Given the description of an element on the screen output the (x, y) to click on. 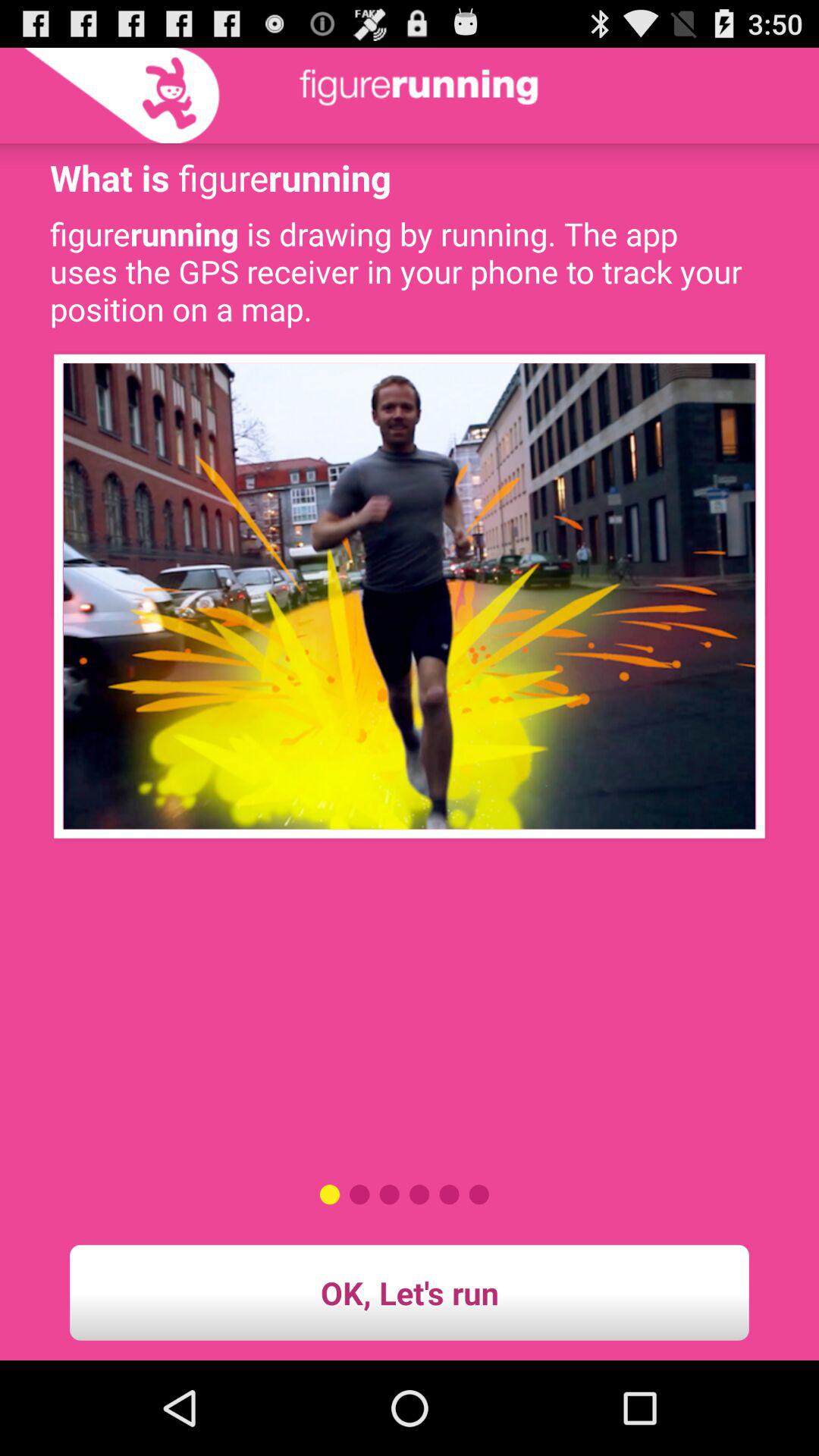
turn off the ok let s button (409, 1292)
